Given the description of an element on the screen output the (x, y) to click on. 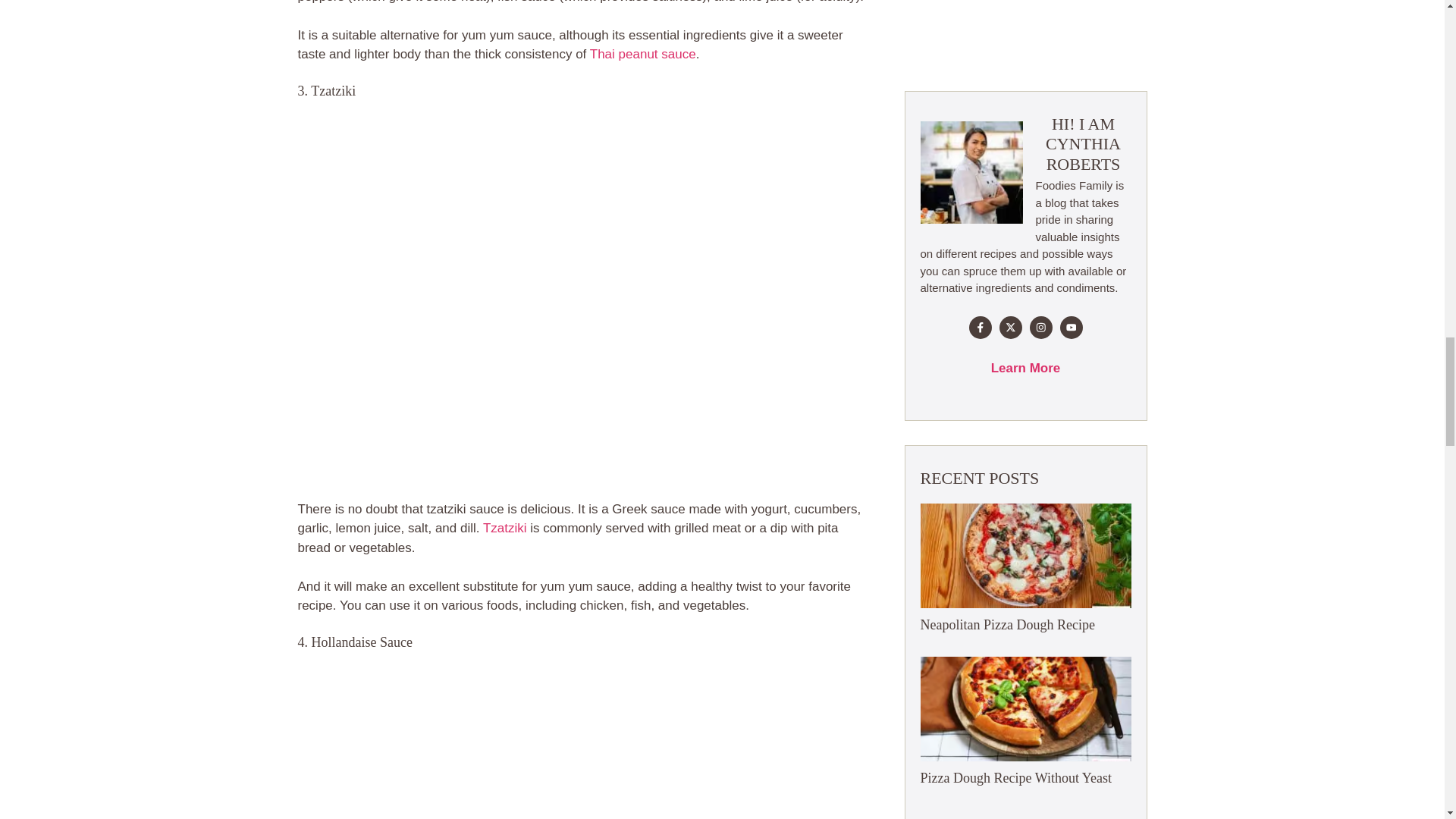
Thai peanut sauce (642, 53)
Tzatziki (505, 527)
